Given the description of an element on the screen output the (x, y) to click on. 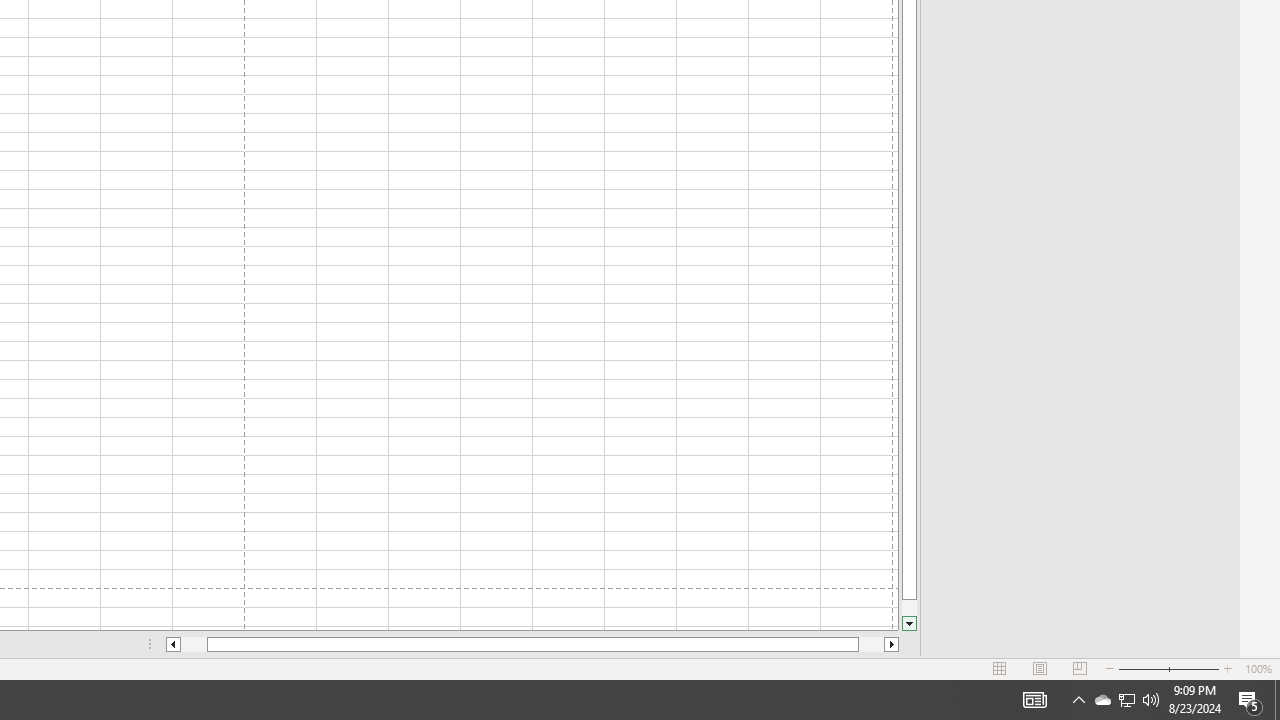
Page left (193, 644)
